Given the description of an element on the screen output the (x, y) to click on. 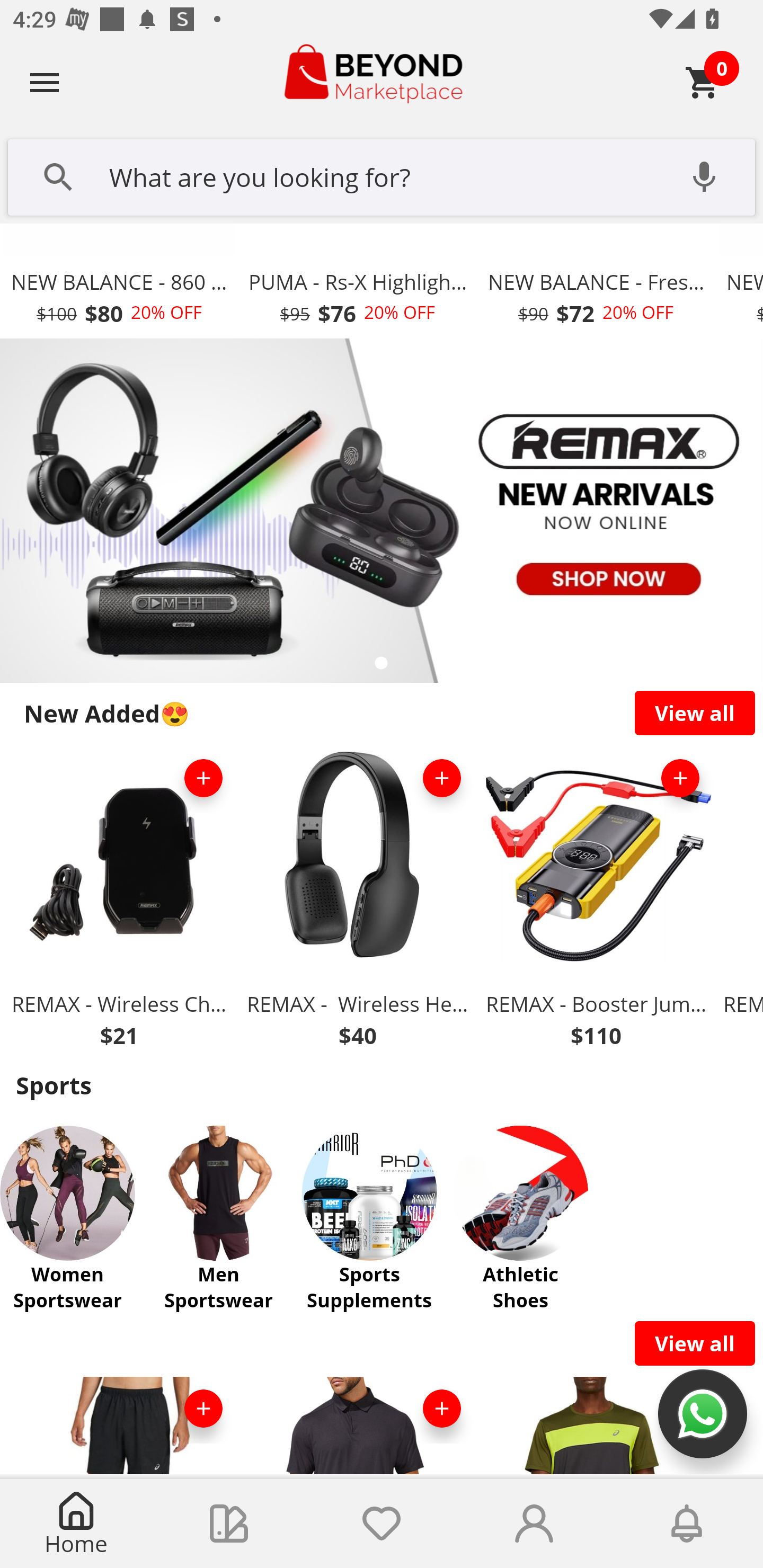
Navigate up (44, 82)
What are you looking for? (381, 175)
NEW BALANCE - 860 Running Shoes $100 $80 20% OFF (119, 281)
View all (694, 713)
REMAX - Wireless Charging Phone Holder $21 (119, 901)
REMAX -  Wireless Headphone RB-700HB Bluetooth $40 (357, 901)
View all (694, 1343)
Collections (228, 1523)
Wishlist (381, 1523)
Account (533, 1523)
Notifications (686, 1523)
